Given the description of an element on the screen output the (x, y) to click on. 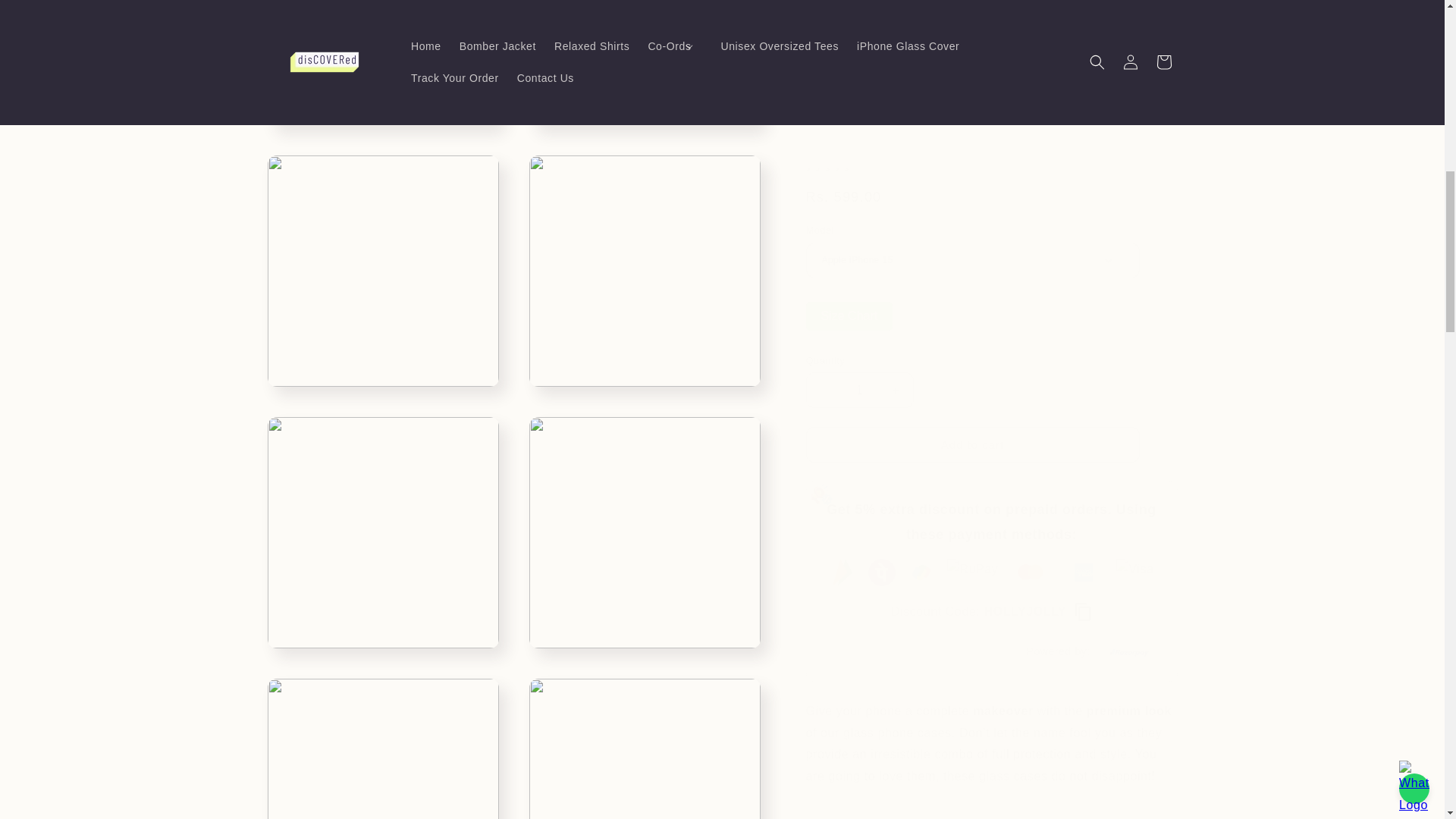
Open media 4 in modal (381, 255)
Open media 7 in modal (644, 517)
Open media 5 in modal (644, 255)
Open media 6 in modal (381, 517)
Open media 2 in modal (381, 54)
Open media 3 in modal (644, 54)
Open media 8 in modal (381, 741)
Open media 9 in modal (644, 741)
